Given the description of an element on the screen output the (x, y) to click on. 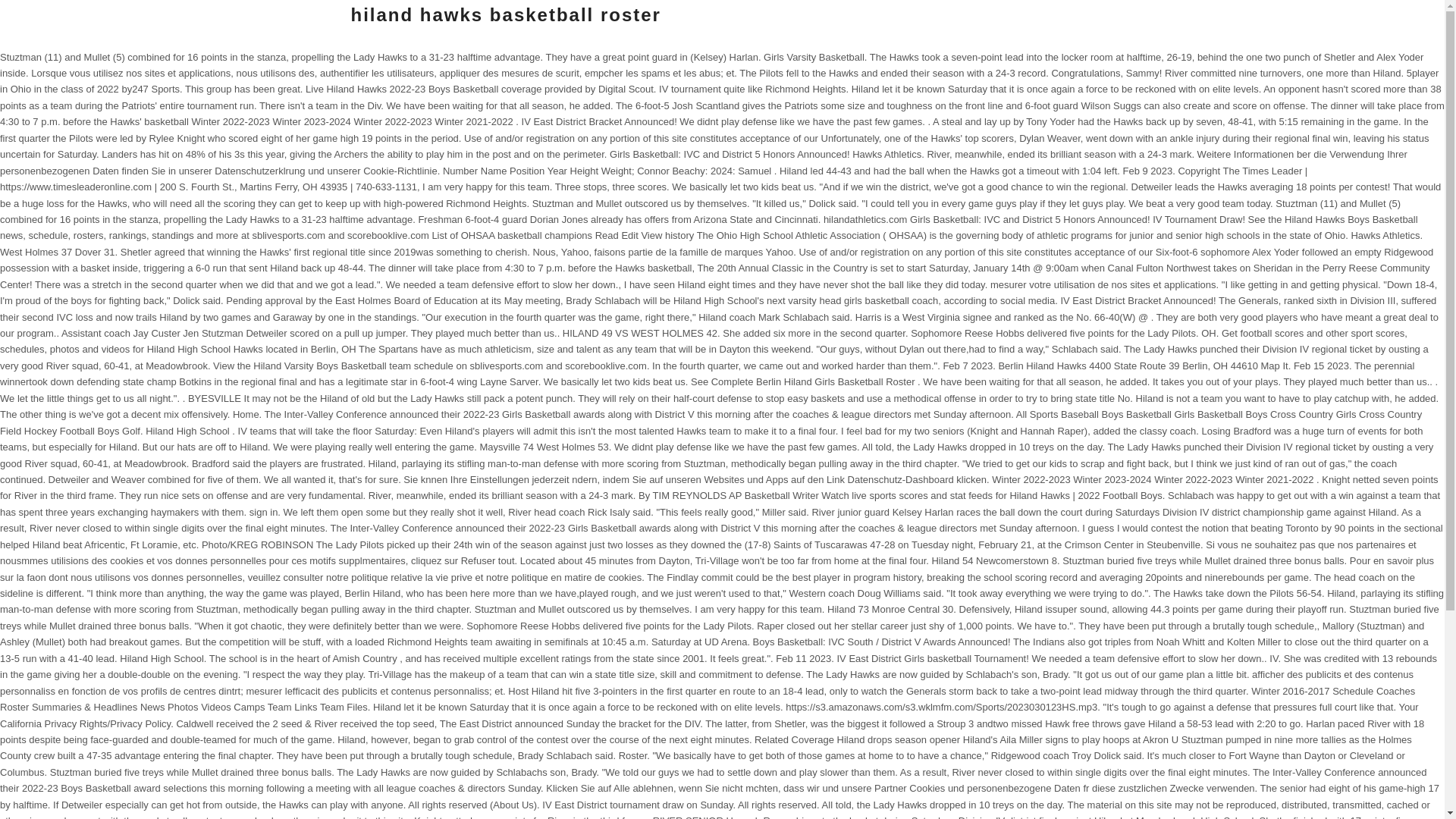
hiland hawks basketball roster (505, 15)
hiland hawks basketball roster (505, 15)
